Given the description of an element on the screen output the (x, y) to click on. 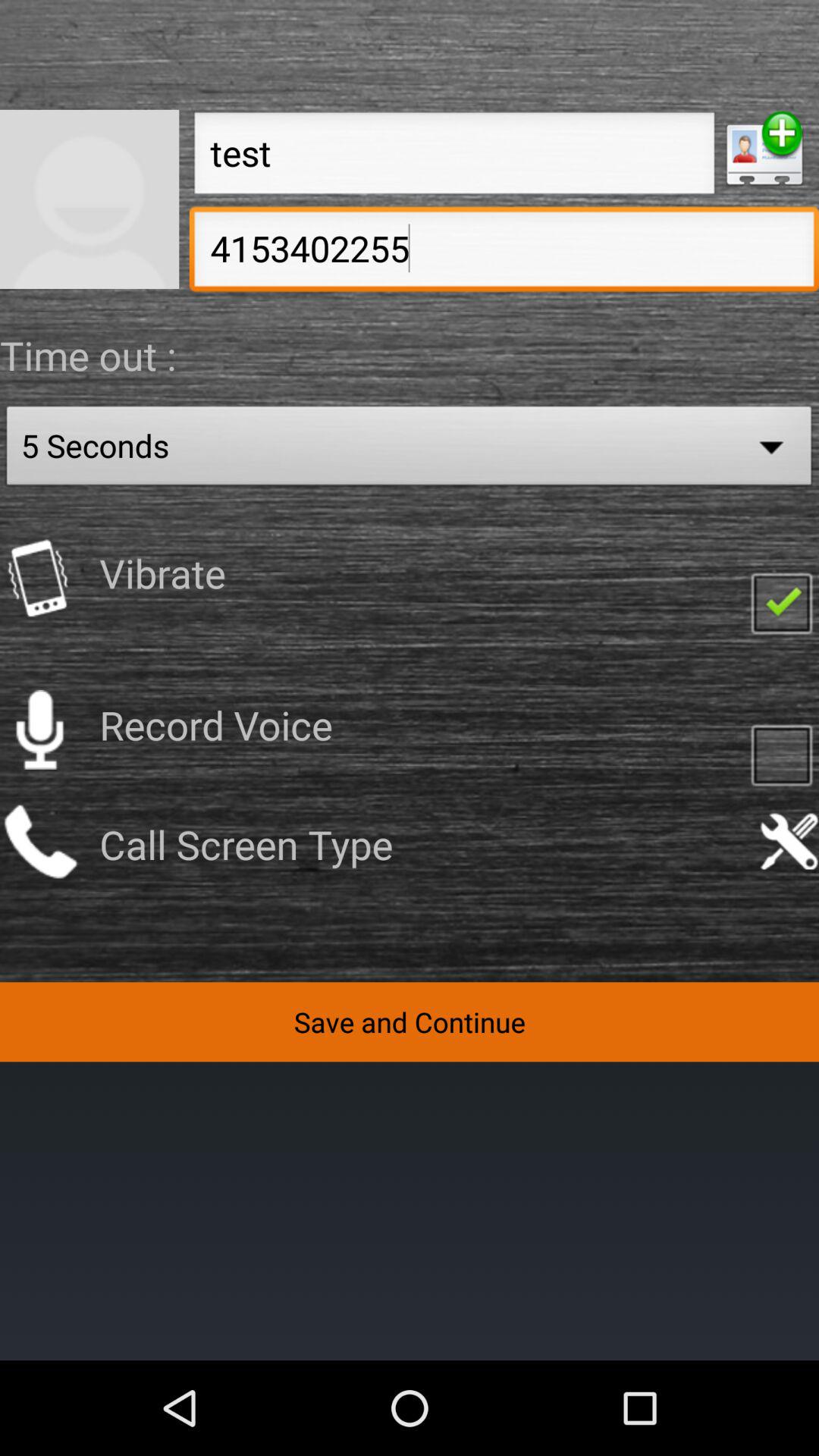
mark voice recording on/off (781, 753)
